Given the description of an element on the screen output the (x, y) to click on. 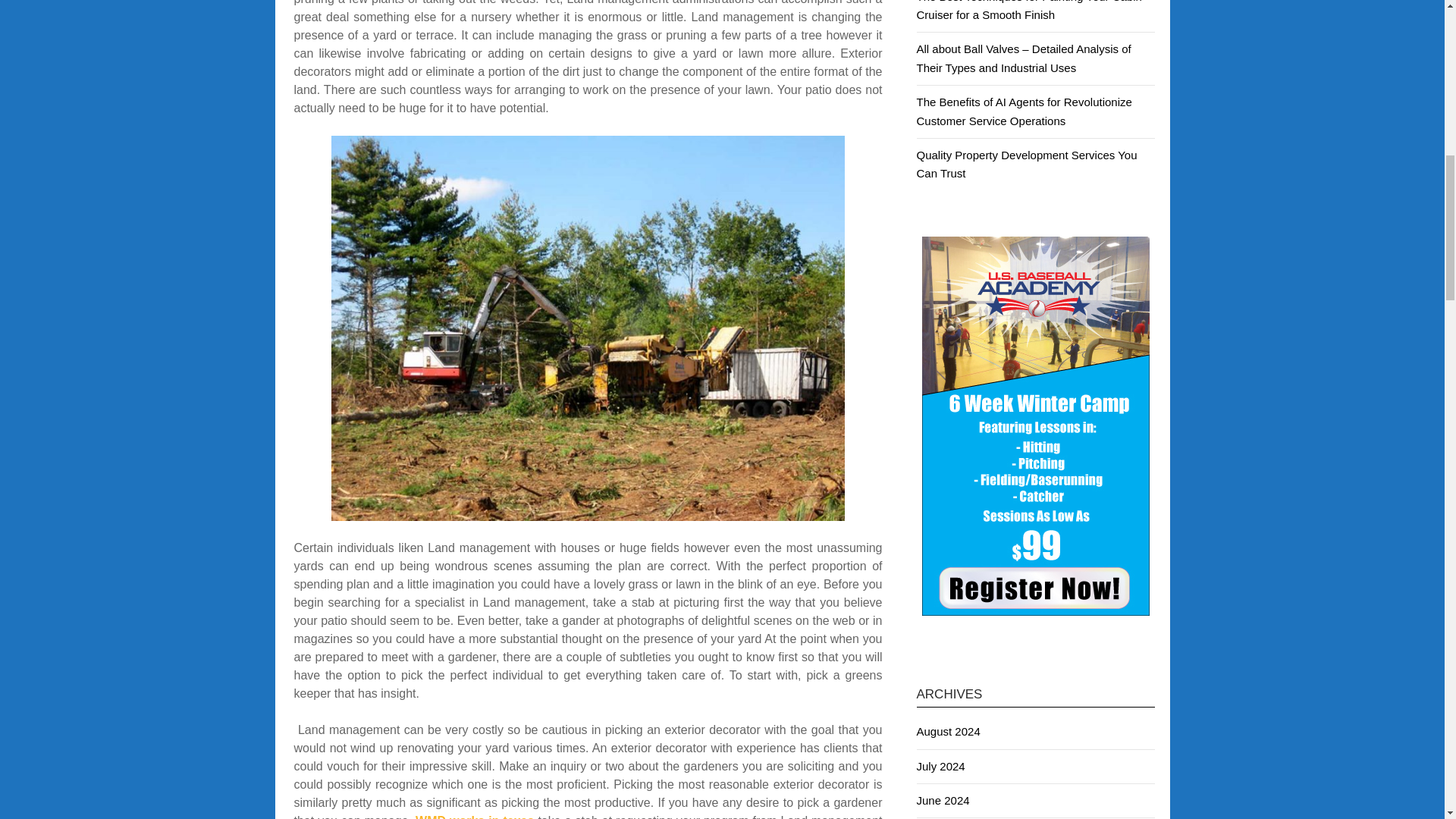
June 2024 (942, 799)
Quality Property Development Services You Can Trust (1026, 163)
August 2024 (947, 730)
WMD works in texas (474, 816)
July 2024 (939, 766)
